Given the description of an element on the screen output the (x, y) to click on. 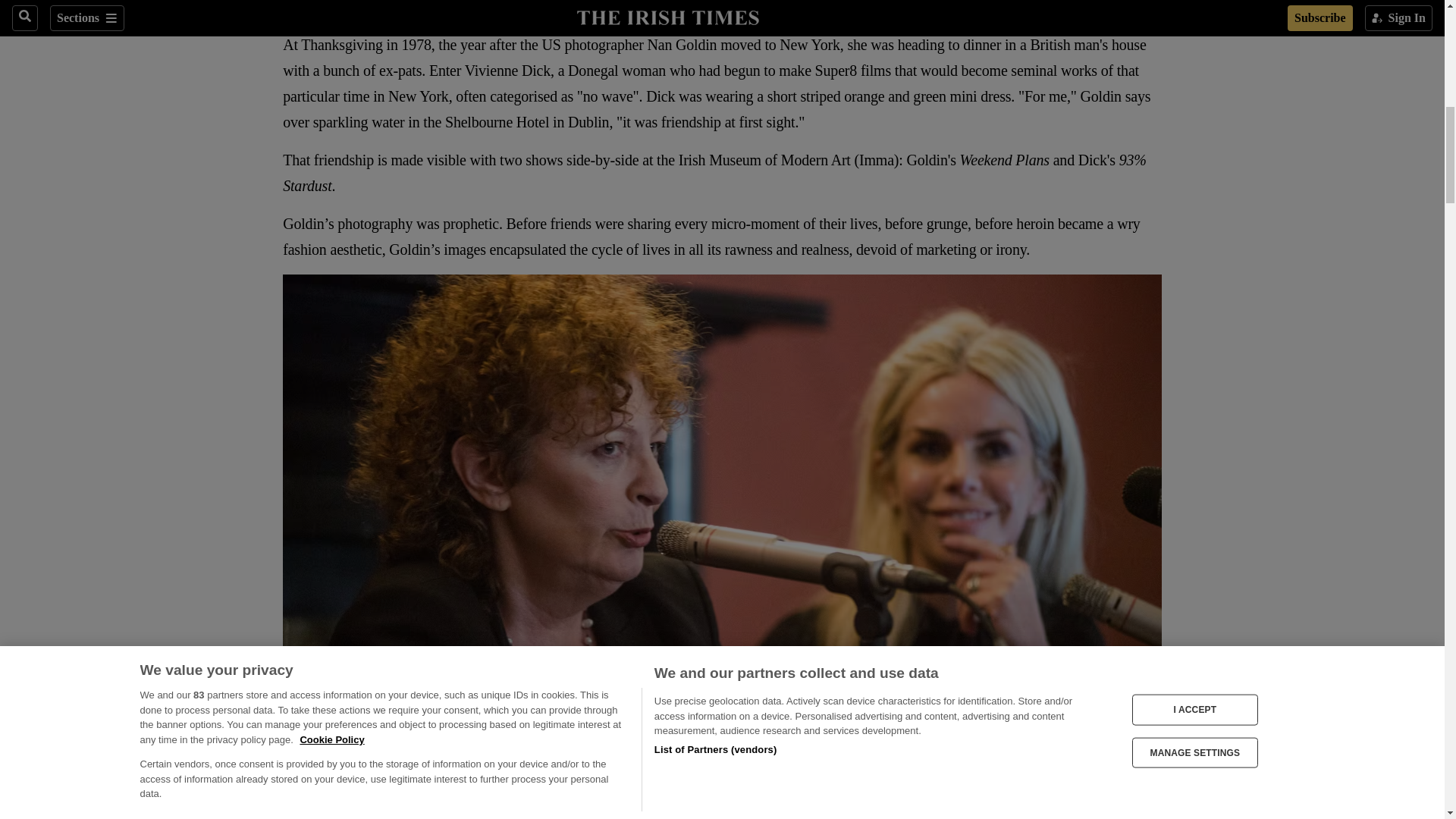
WhatsApp (352, 9)
X (322, 9)
Facebook (291, 9)
